Given the description of an element on the screen output the (x, y) to click on. 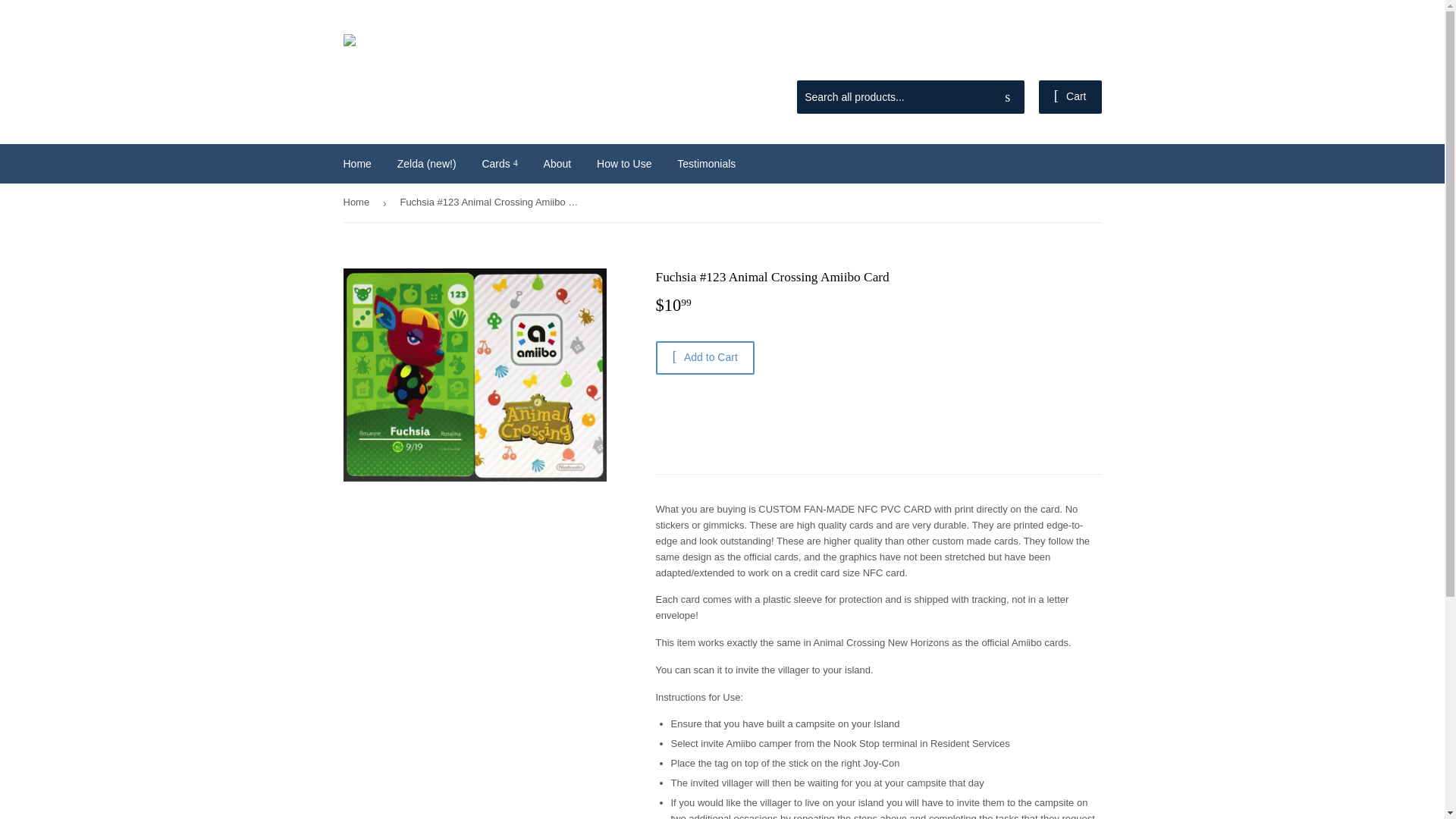
Create an Account (1063, 61)
About (557, 163)
Search (1007, 97)
Sign in (993, 61)
How to Use (623, 163)
Cards (499, 163)
Home (356, 163)
Cart (1070, 96)
Testimonials (705, 163)
